Given the description of an element on the screen output the (x, y) to click on. 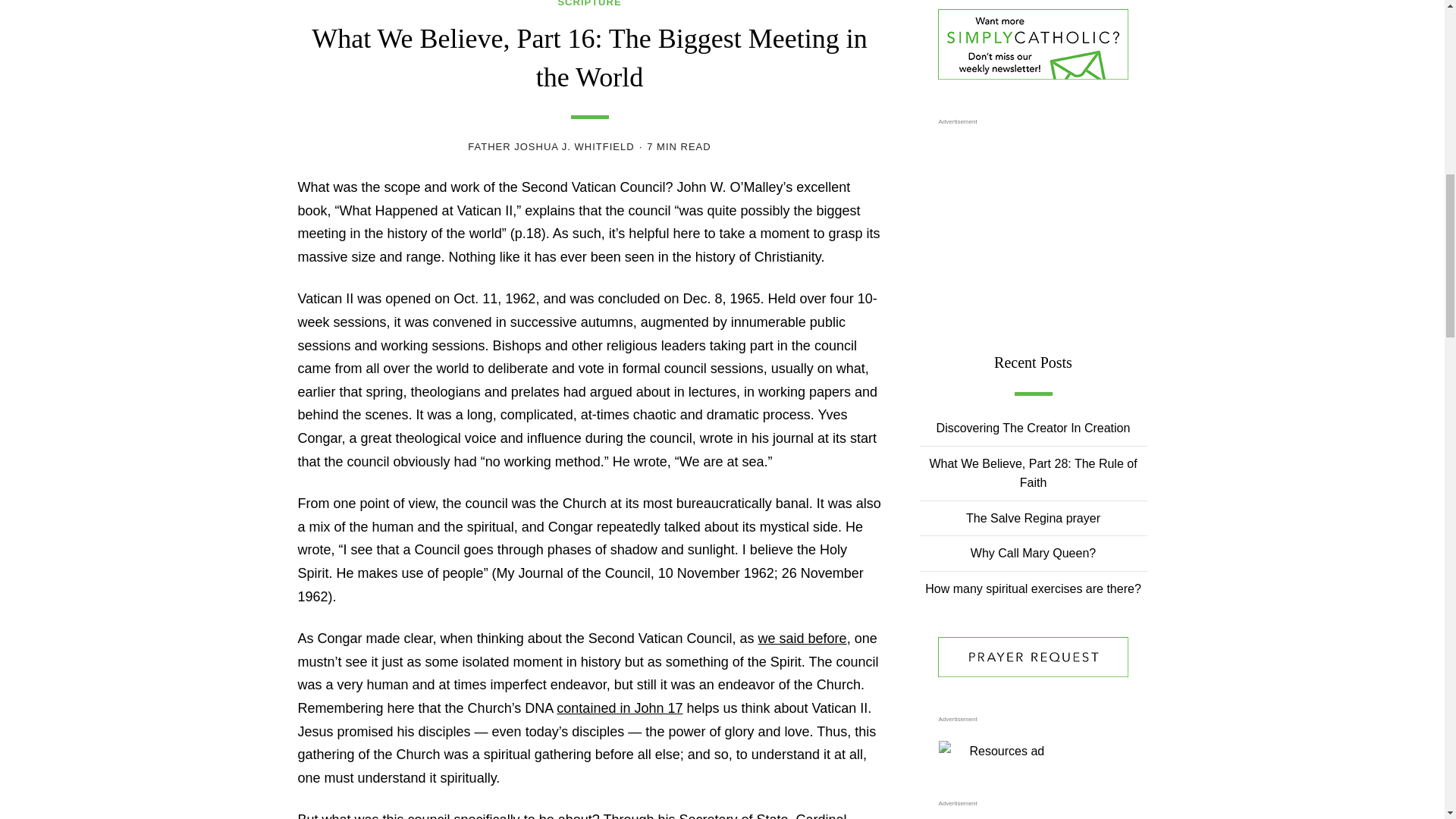
Scripture (589, 4)
What We Believe, Part 28: The Rule of Faith (1032, 473)
contained in John 17 (619, 708)
3rd party ad content (1032, 816)
Discovering The Creator In Creation (1033, 427)
FATHER JOSHUA J. WHITFIELD (550, 146)
SCRIPTURE (589, 4)
3rd party ad content (1032, 226)
we said before (802, 638)
